Given the description of an element on the screen output the (x, y) to click on. 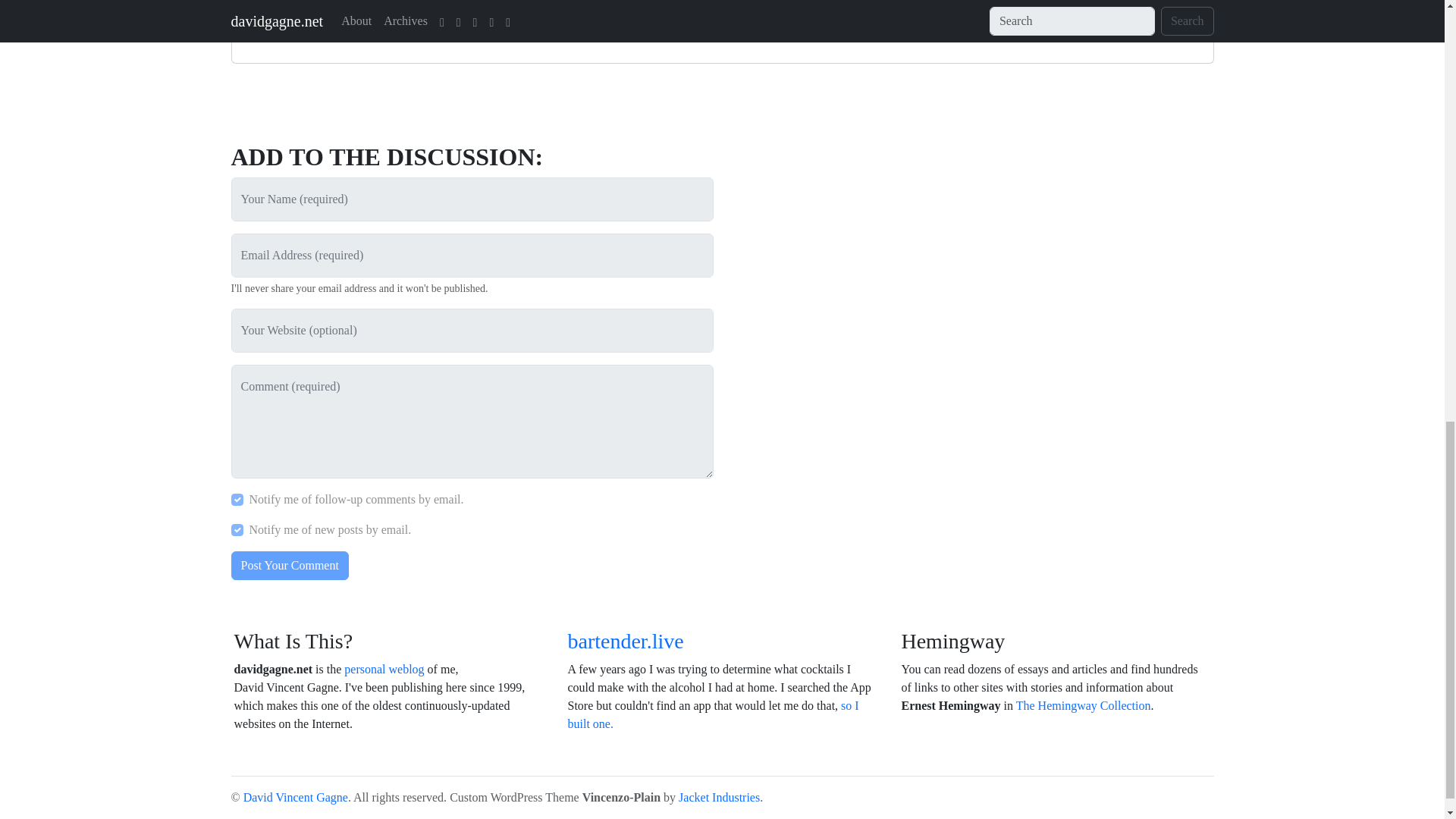
Post Your Comment (288, 565)
v. 1.0.64 (621, 797)
All About Me (383, 668)
so I built one. (713, 714)
The Hemingway Collection (1083, 705)
Jacket Industries (719, 797)
David Vincent Gagne (295, 797)
subscribe (236, 530)
personal weblog (383, 668)
subscribe (236, 499)
bartender.live (624, 640)
